Given the description of an element on the screen output the (x, y) to click on. 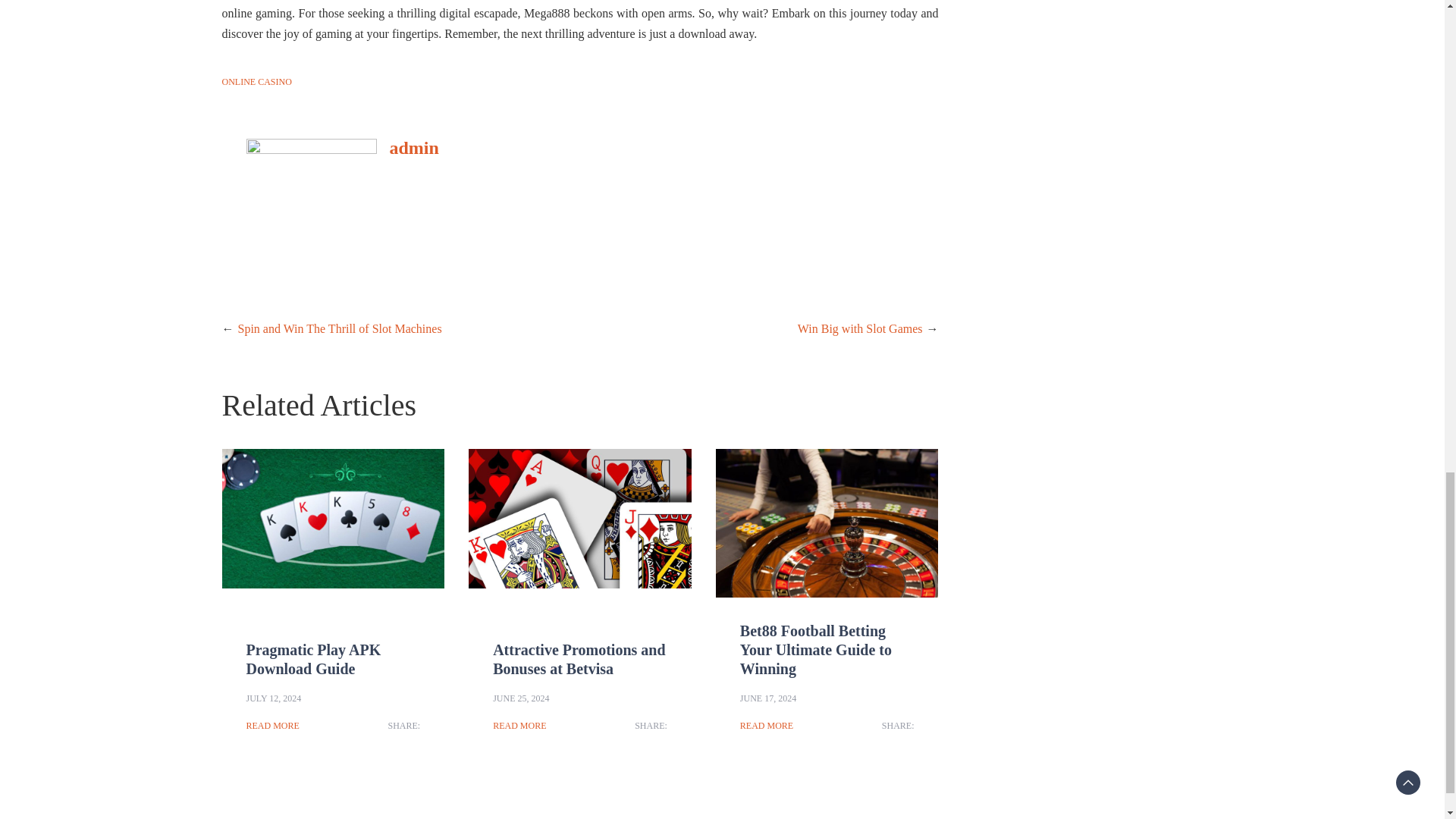
Attractive Promotions and Bonuses at Betvisa (579, 659)
ONLINE CASINO (256, 81)
Bet88 Football Betting Your Ultimate Guide to Winning (815, 649)
READ MORE (766, 725)
Spin and Win The Thrill of Slot Machines (340, 328)
JUNE 25, 2024 (520, 698)
JUNE 17, 2024 (767, 698)
Pragmatic Play APK Download Guide (313, 659)
READ MORE (272, 725)
JULY 12, 2024 (273, 698)
READ MORE (519, 725)
admin (413, 148)
Win Big with Slot Games (860, 328)
